Given the description of an element on the screen output the (x, y) to click on. 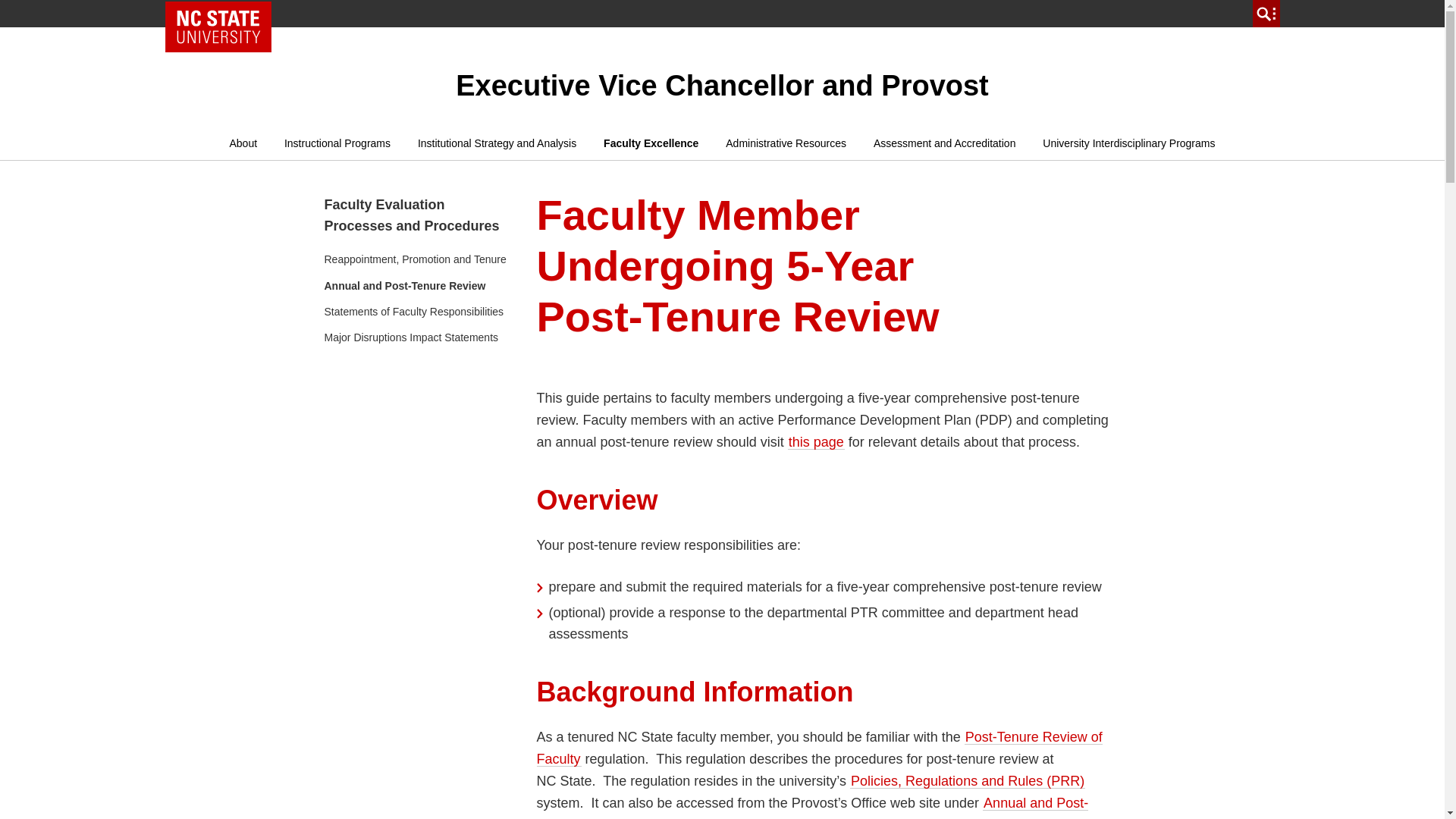
Instructional Programs (337, 143)
NC State Home (217, 26)
About (242, 143)
Executive Vice Chancellor and Provost (721, 85)
Institutional Strategy and Analysis (496, 143)
